Given the description of an element on the screen output the (x, y) to click on. 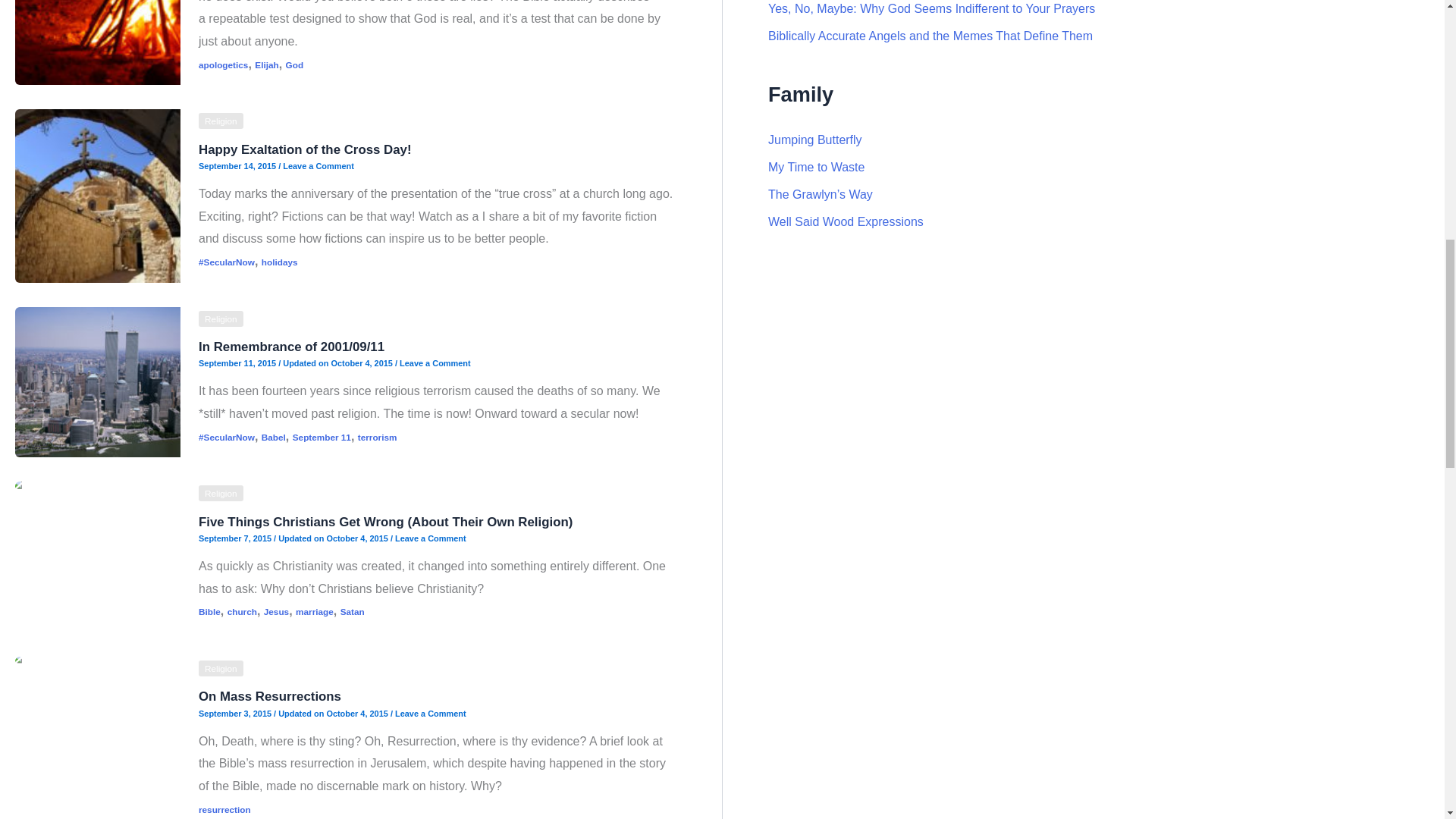
my dad's website (816, 166)
my mom's business (845, 221)
my daughter's blog (814, 139)
